Given the description of an element on the screen output the (x, y) to click on. 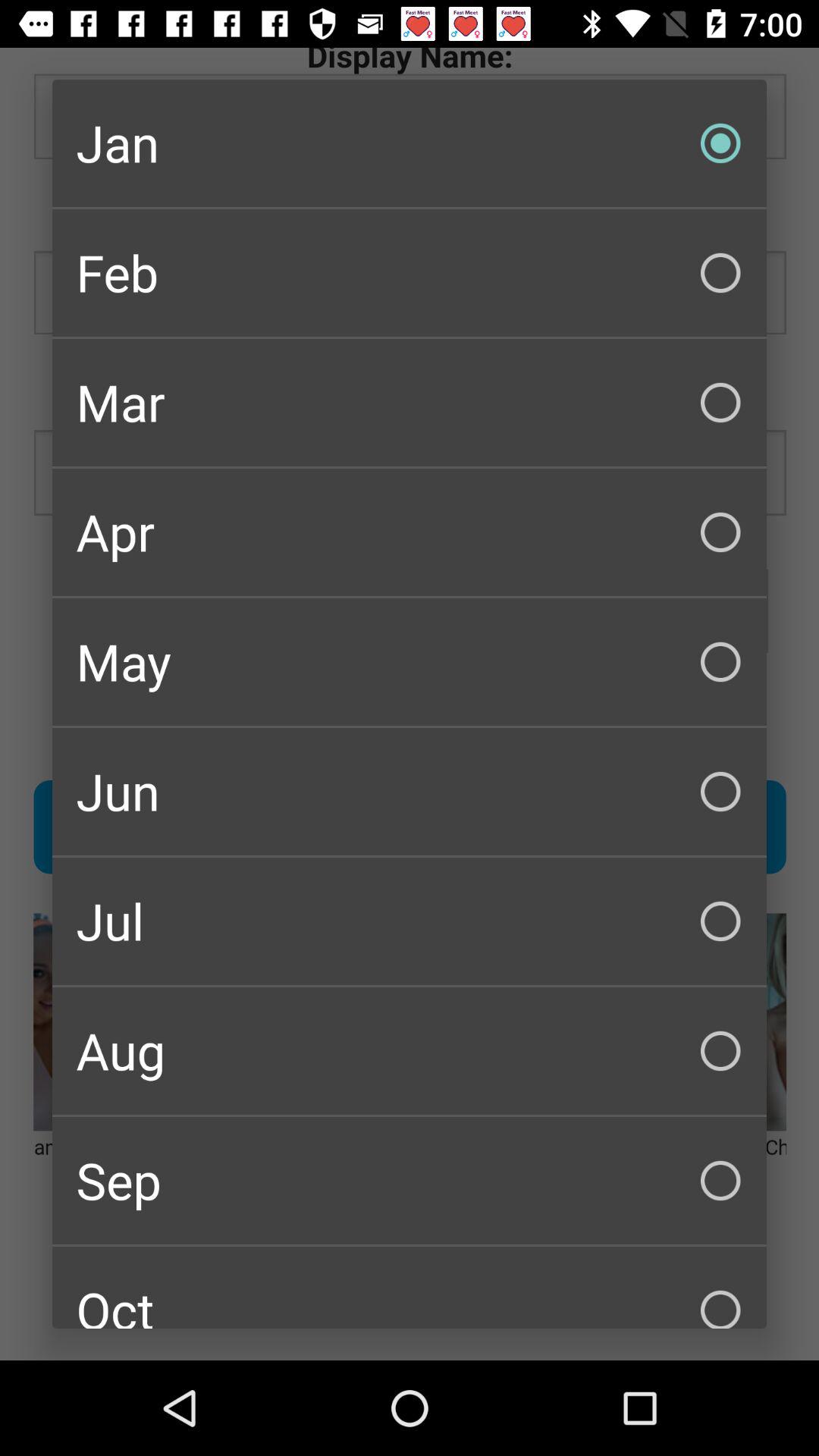
click icon above the jun icon (409, 661)
